Given the description of an element on the screen output the (x, y) to click on. 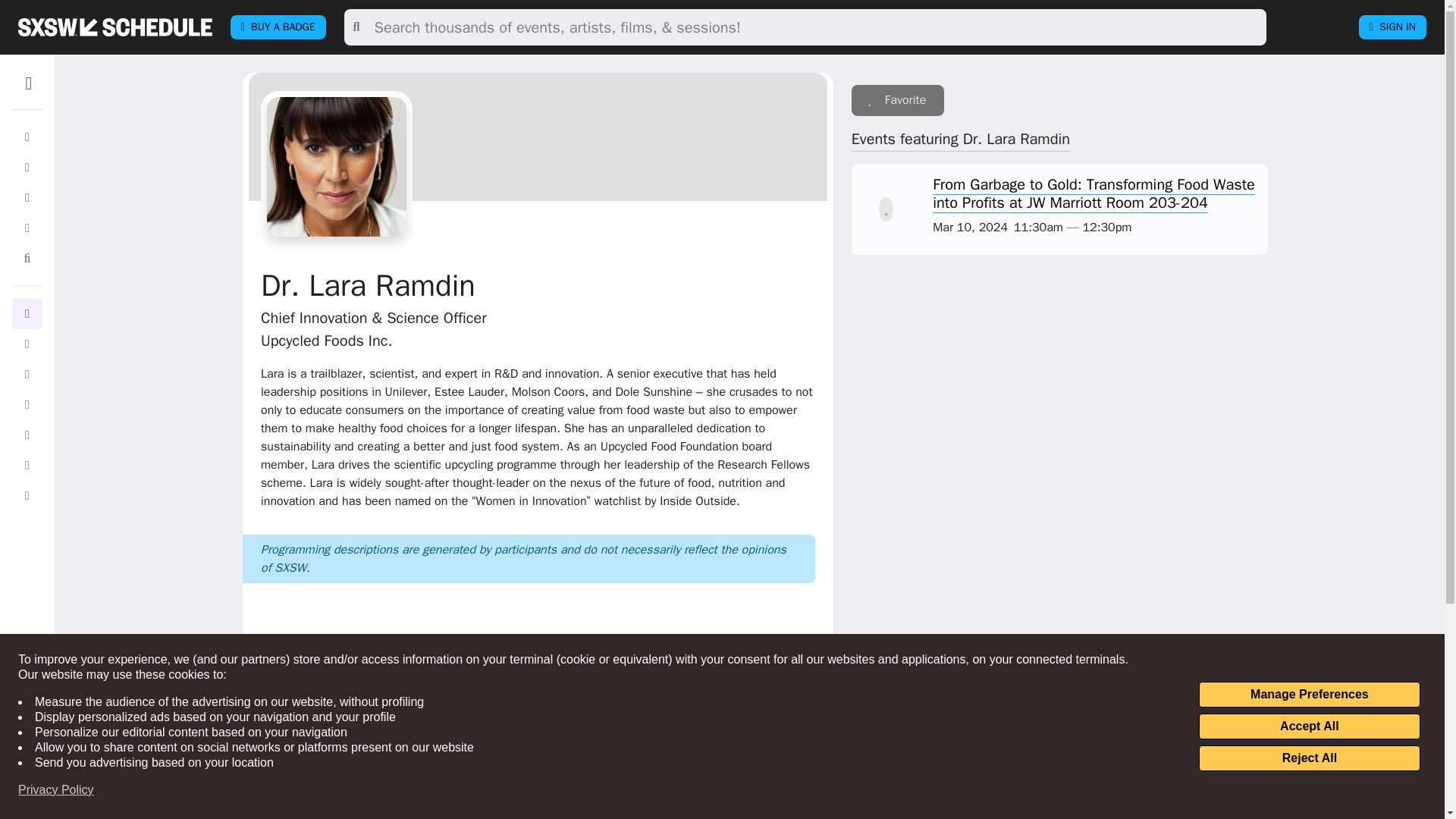
Manage Preferences (1309, 694)
Reject All (1309, 758)
Privacy Policy (55, 789)
Accept All (1309, 726)
SIGN IN (1392, 27)
Sign In to add to your favorites. (897, 100)
BUY A BADGE (278, 27)
sxsw SCHEDULE (114, 27)
